Given the description of an element on the screen output the (x, y) to click on. 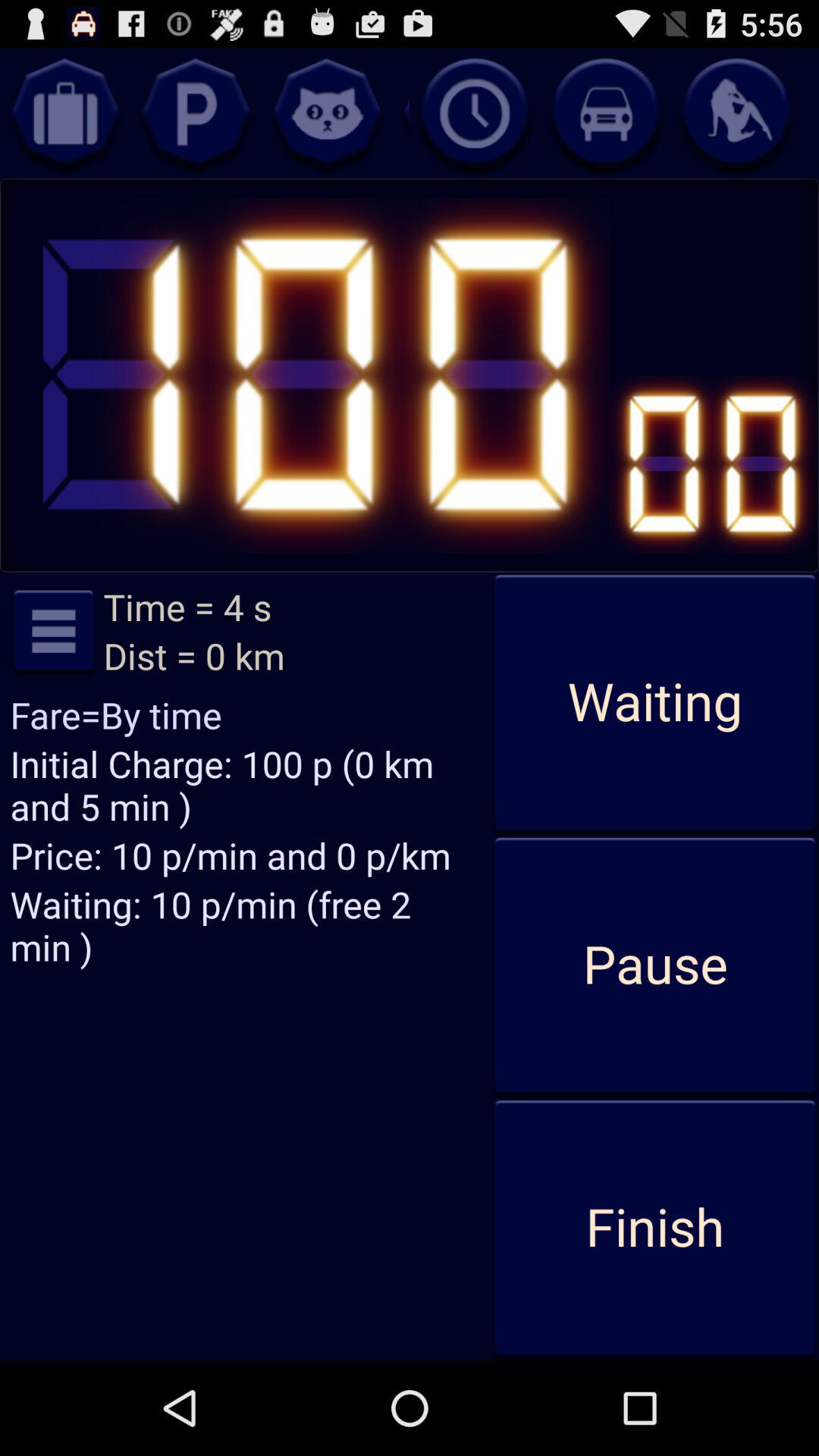
select parking tab (195, 112)
